Given the description of an element on the screen output the (x, y) to click on. 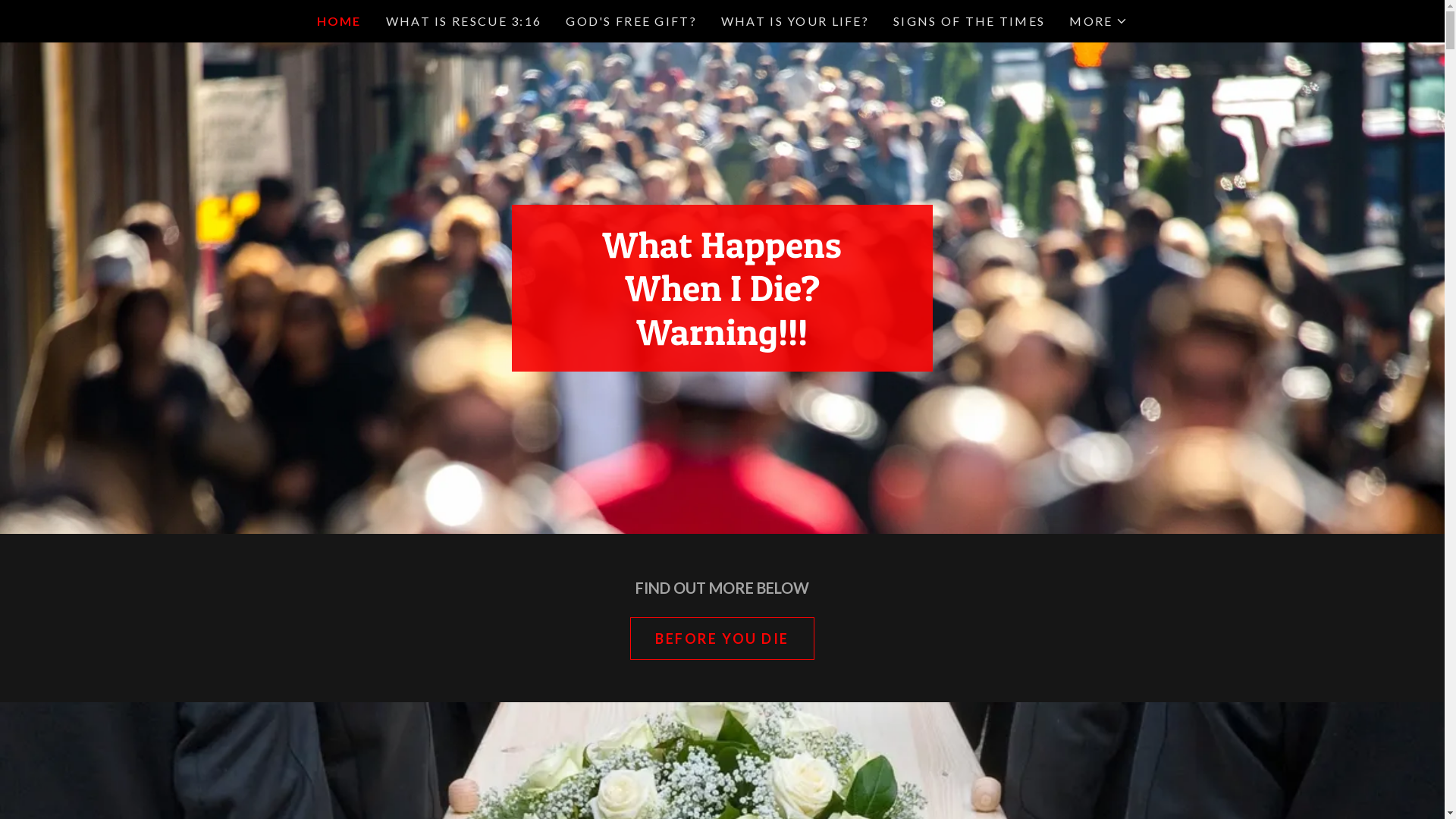
BEFORE YOU DIE Element type: text (722, 638)
MORE Element type: text (1098, 21)
GOD'S FREE GIFT? Element type: text (631, 20)
HOME Element type: text (338, 21)
SIGNS OF THE TIMES Element type: text (968, 20)
WHAT IS YOUR LIFE? Element type: text (794, 20)
WHAT IS RESCUE 3:16 Element type: text (463, 20)
